Given the description of an element on the screen output the (x, y) to click on. 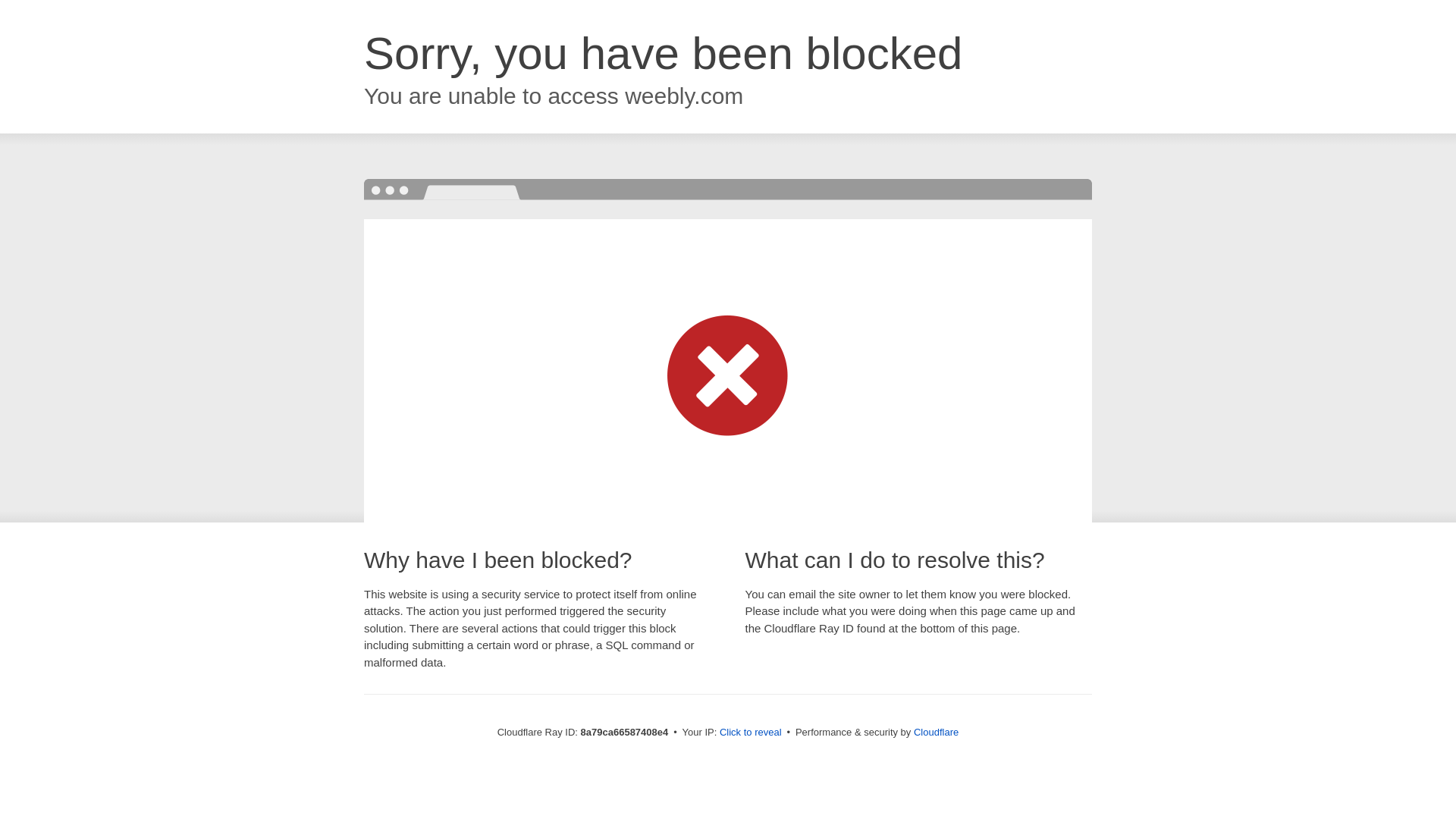
Click to reveal (750, 732)
Cloudflare (936, 731)
